Given the description of an element on the screen output the (x, y) to click on. 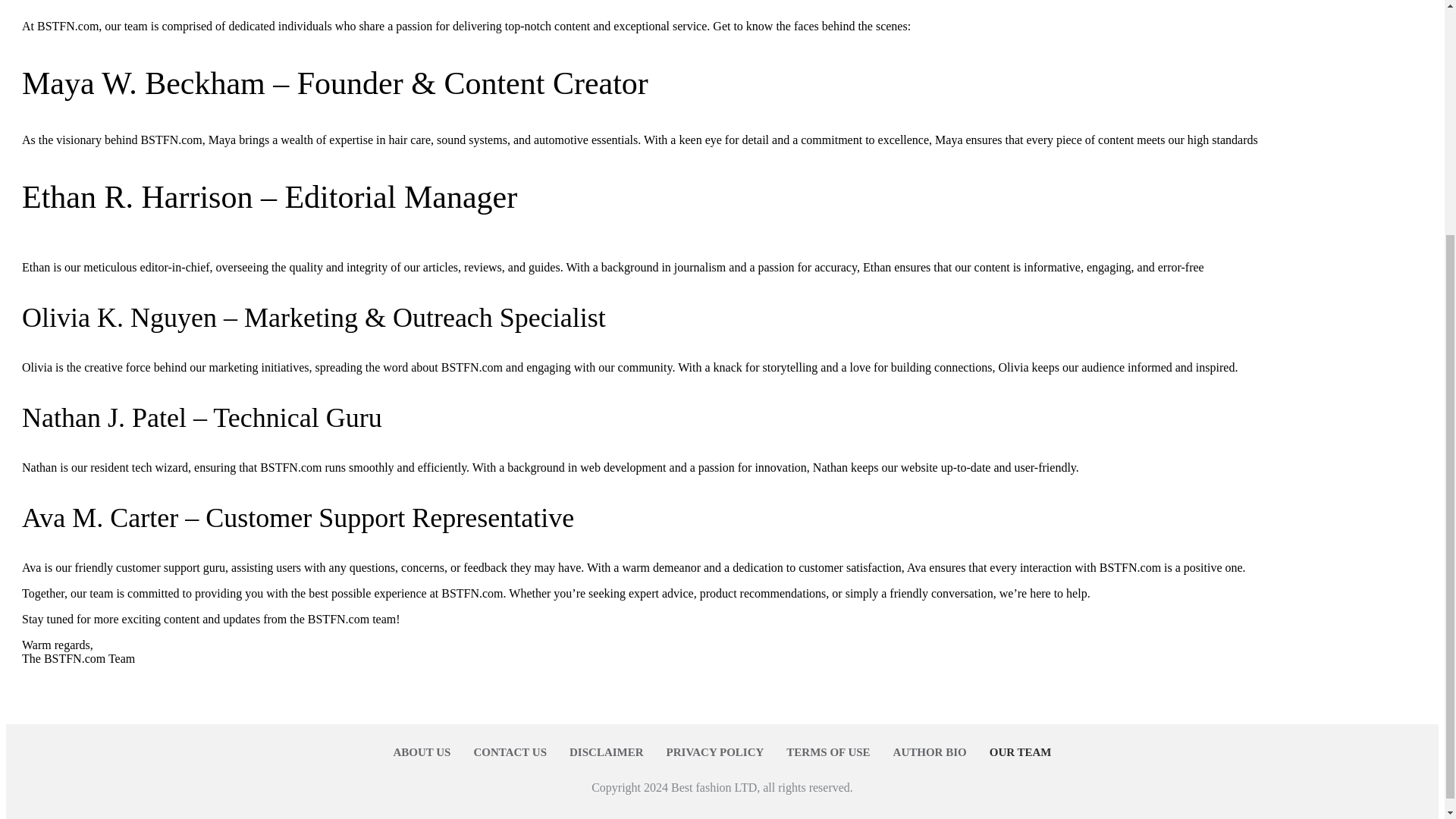
CONTACT US (510, 752)
ABOUT US (421, 752)
AUTHOR BIO (929, 752)
TERMS OF USE (827, 752)
DISCLAIMER (606, 752)
OUR TEAM (1020, 752)
PRIVACY POLICY (715, 752)
